Given the description of an element on the screen output the (x, y) to click on. 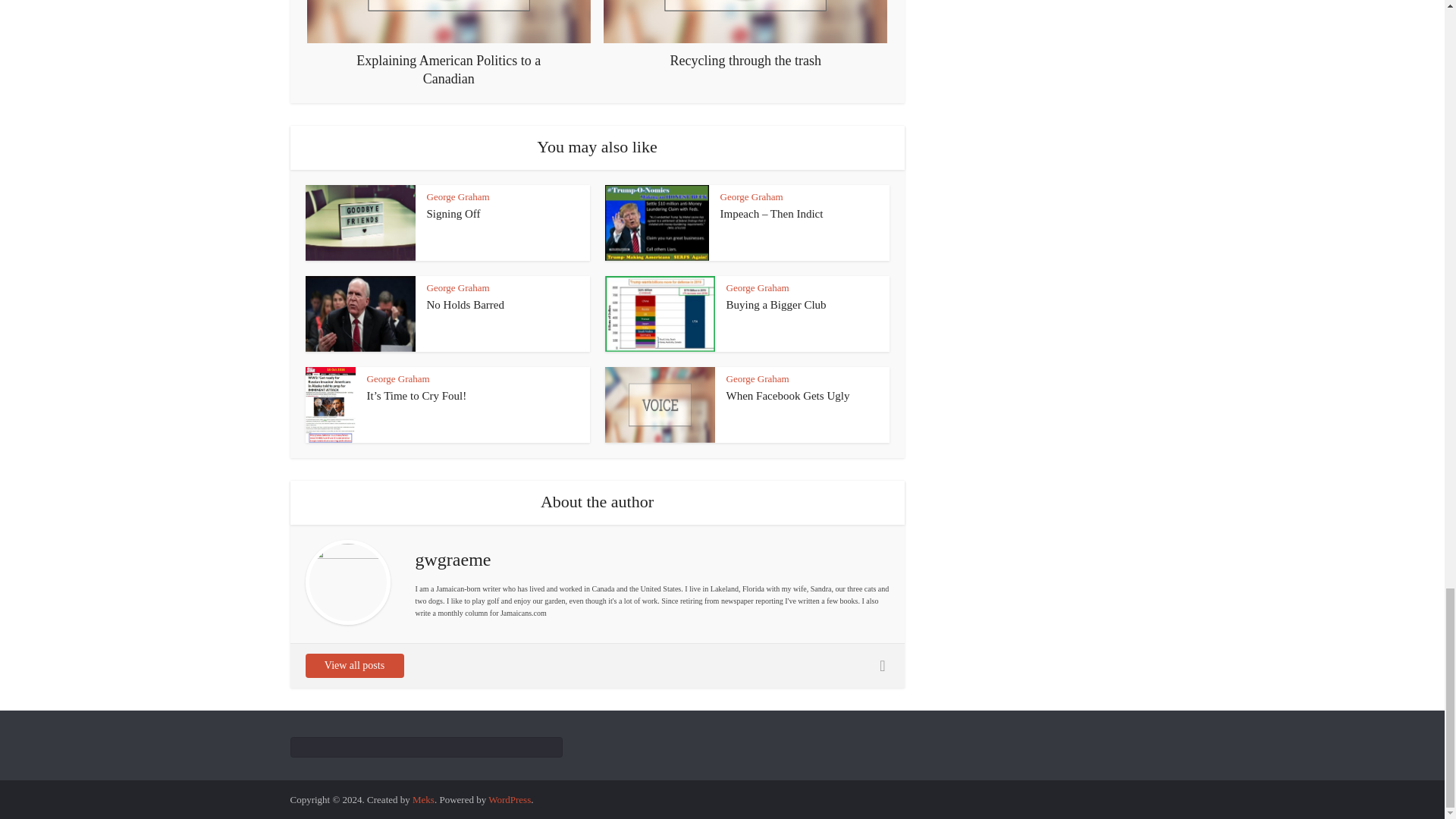
Buying a Bigger Club (776, 304)
George Graham (751, 196)
Signing Off (453, 214)
Signing Off (453, 214)
Explaining American Politics to a Canadian (449, 43)
Recycling through the trash (745, 34)
No Holds Barred (464, 304)
George Graham (457, 196)
